Given the description of an element on the screen output the (x, y) to click on. 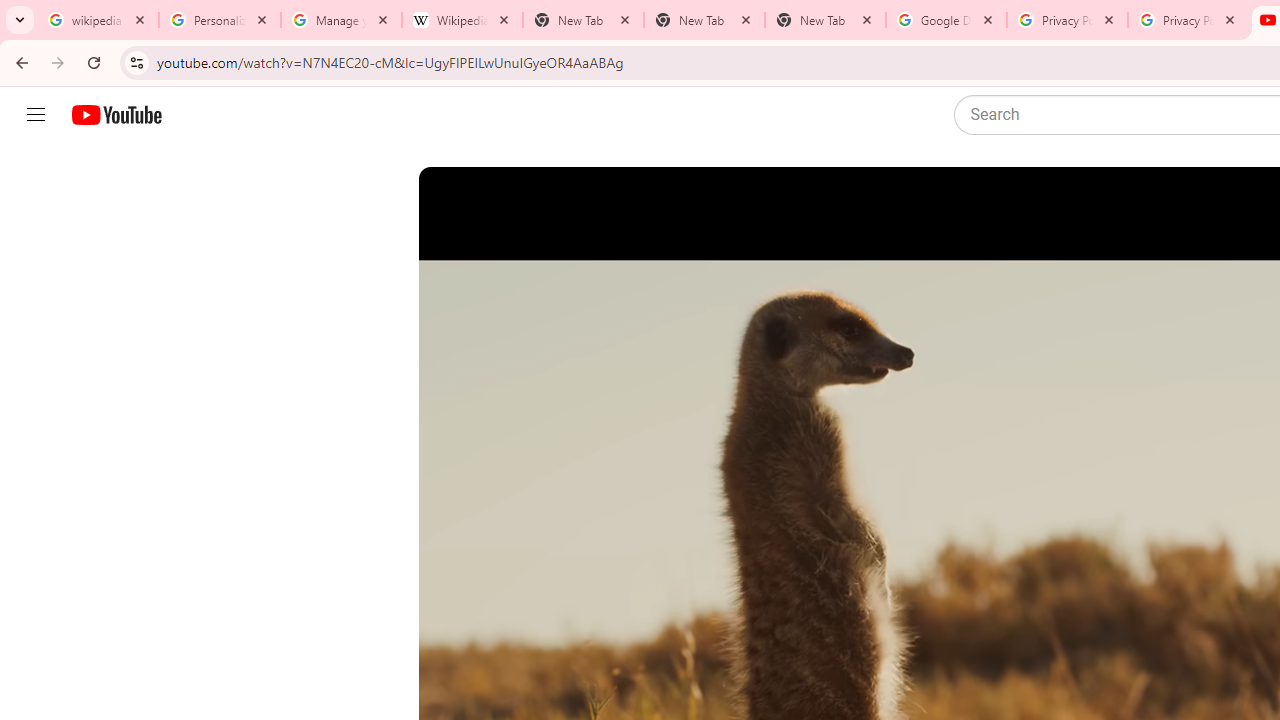
New Tab (704, 20)
Personalization & Google Search results - Google Search Help (219, 20)
Manage your Location History - Google Search Help (340, 20)
YouTube Home (116, 115)
Wikipedia:Edit requests - Wikipedia (462, 20)
New Tab (825, 20)
